Given the description of an element on the screen output the (x, y) to click on. 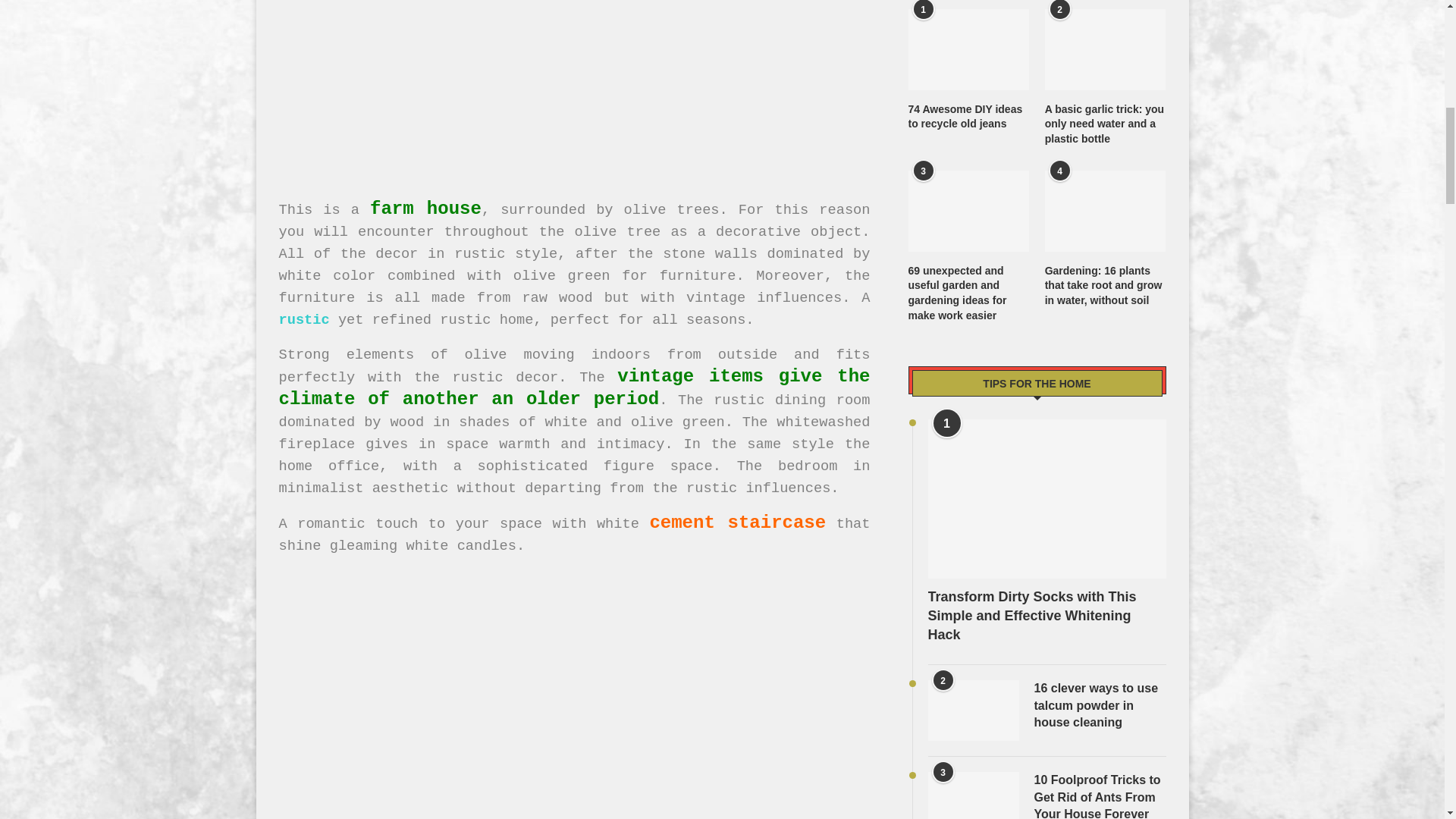
rustic (304, 320)
